Given the description of an element on the screen output the (x, y) to click on. 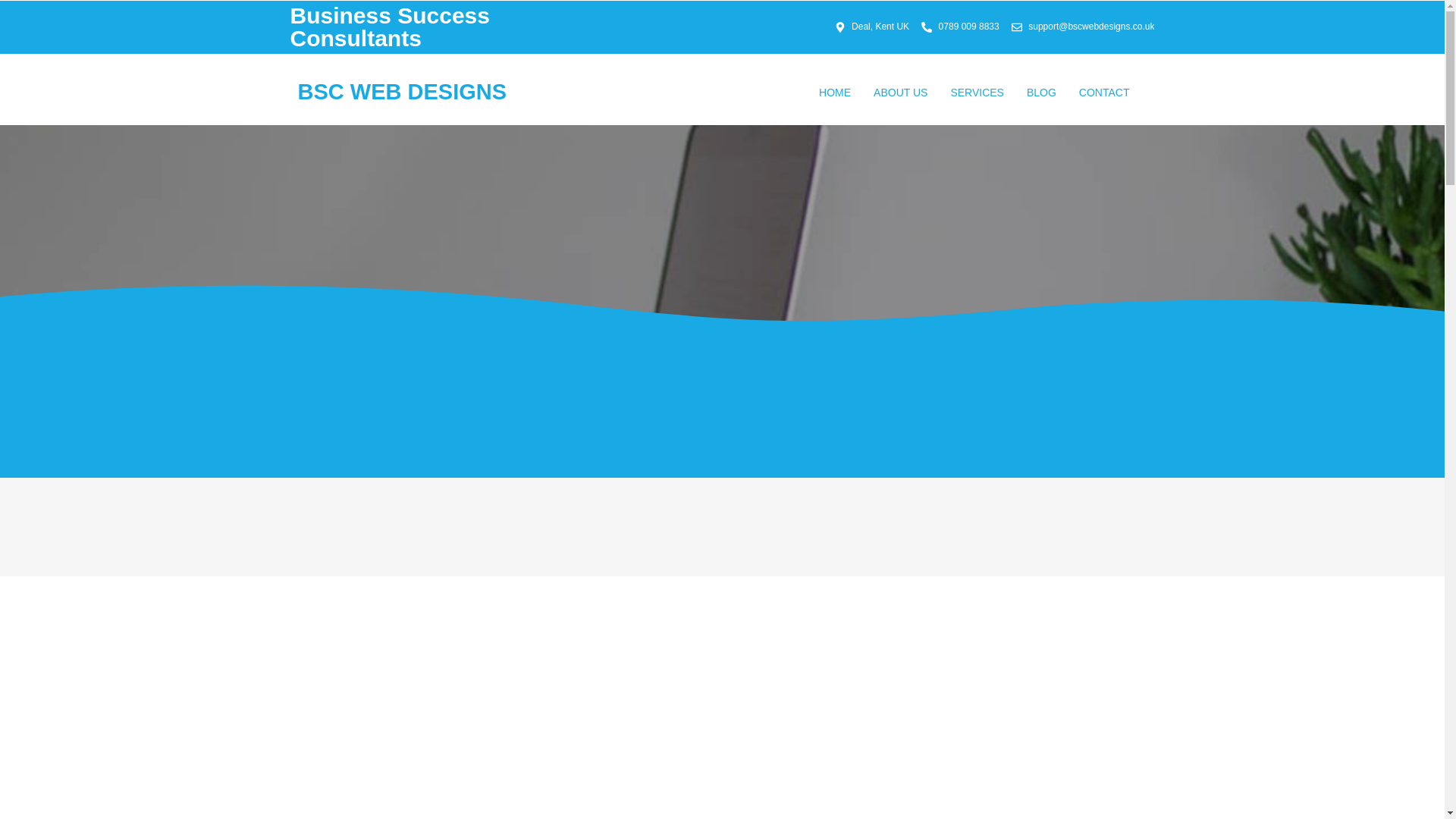
BLOG (1040, 92)
SERVICES (976, 92)
HOME (834, 92)
0789 009 8833 (959, 26)
CONTACT (1104, 92)
ABOUT US (900, 92)
